Given the description of an element on the screen output the (x, y) to click on. 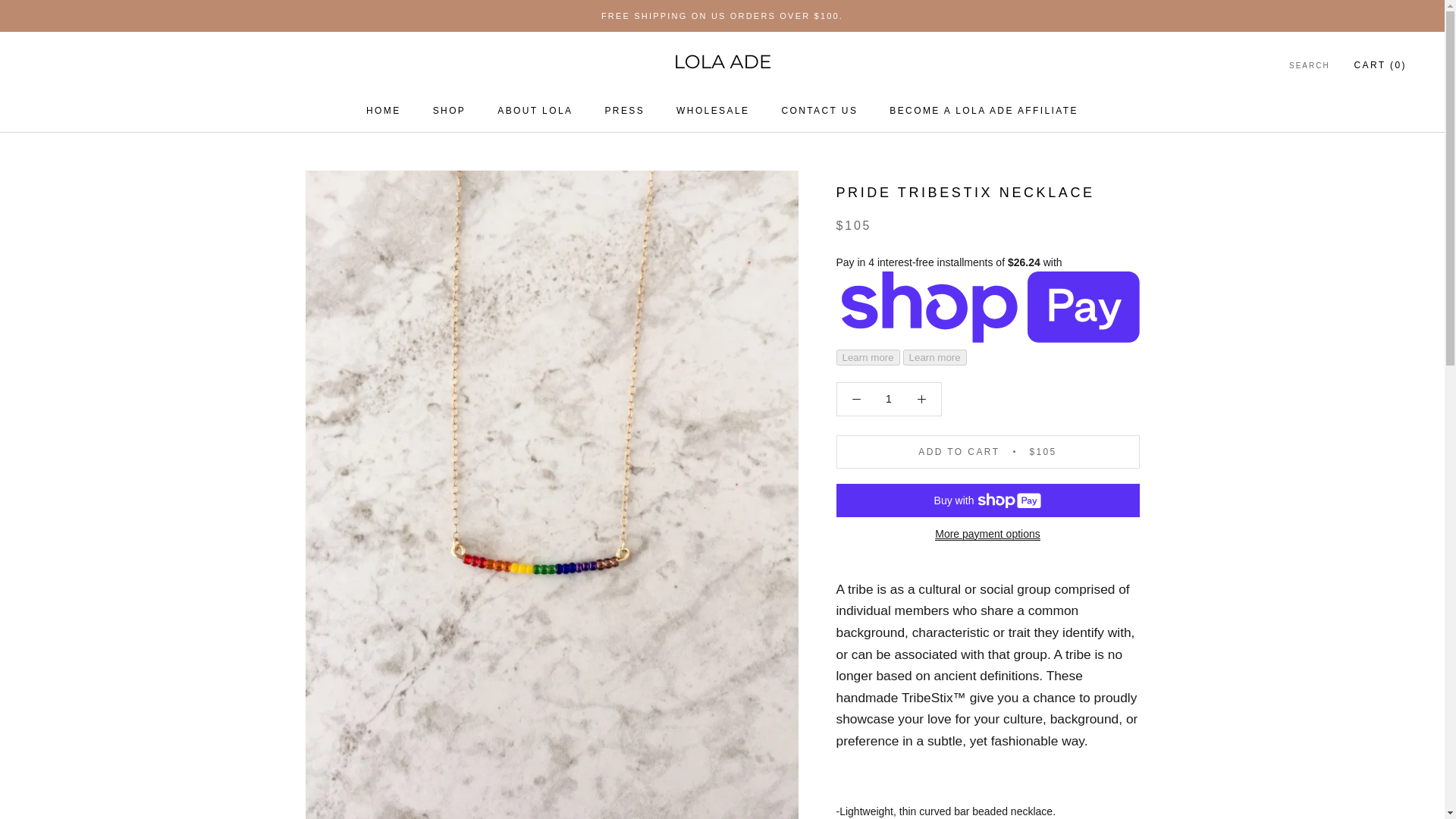
SHOP (383, 110)
1 (818, 110)
SEARCH (448, 110)
